Given the description of an element on the screen output the (x, y) to click on. 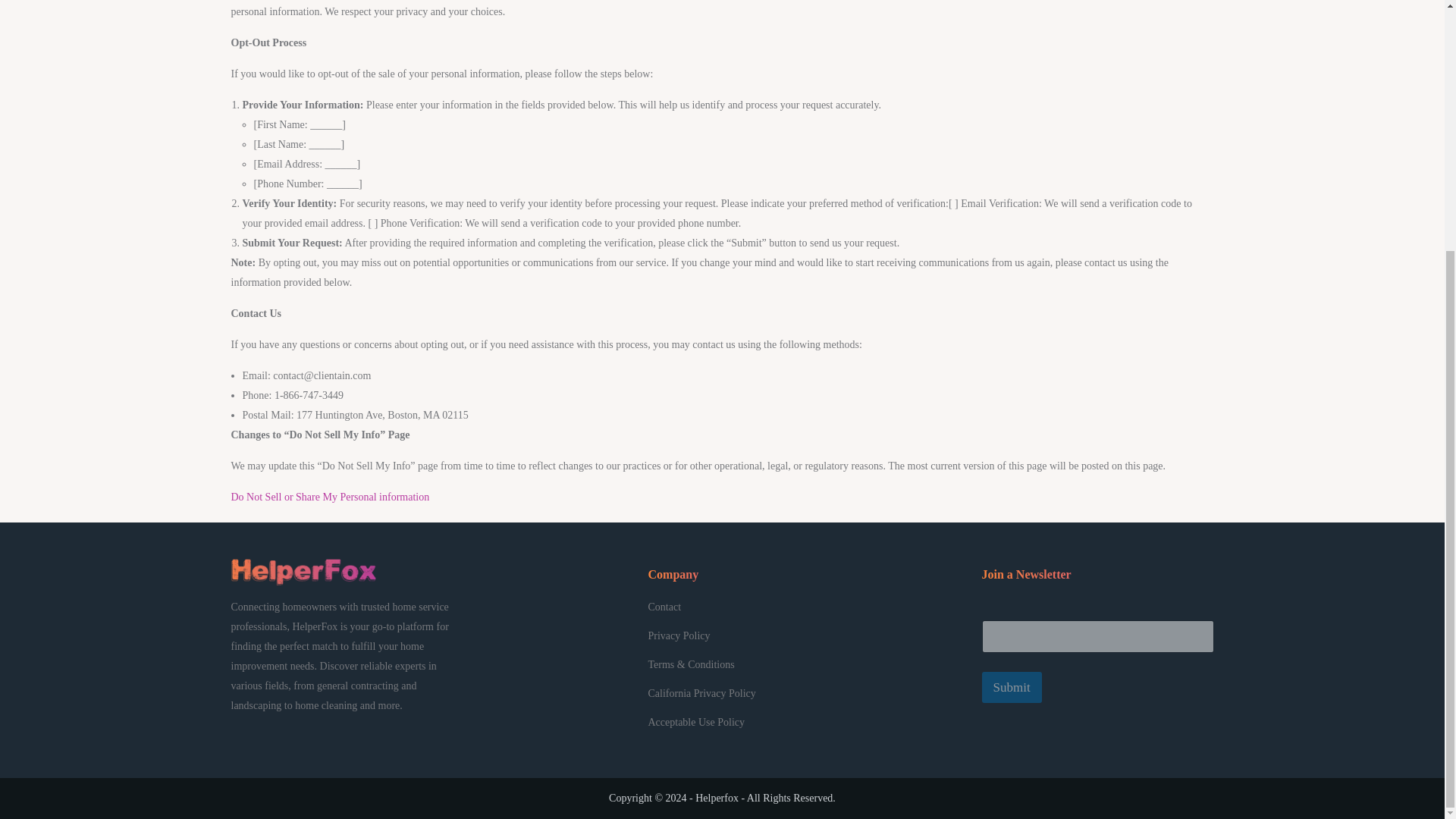
Do Not Sell or Share My Personal information (329, 496)
California Privacy Policy (701, 693)
Privacy Policy (678, 635)
Contact (664, 606)
Submit (1011, 686)
Acceptable Use Policy (695, 722)
